Given the description of an element on the screen output the (x, y) to click on. 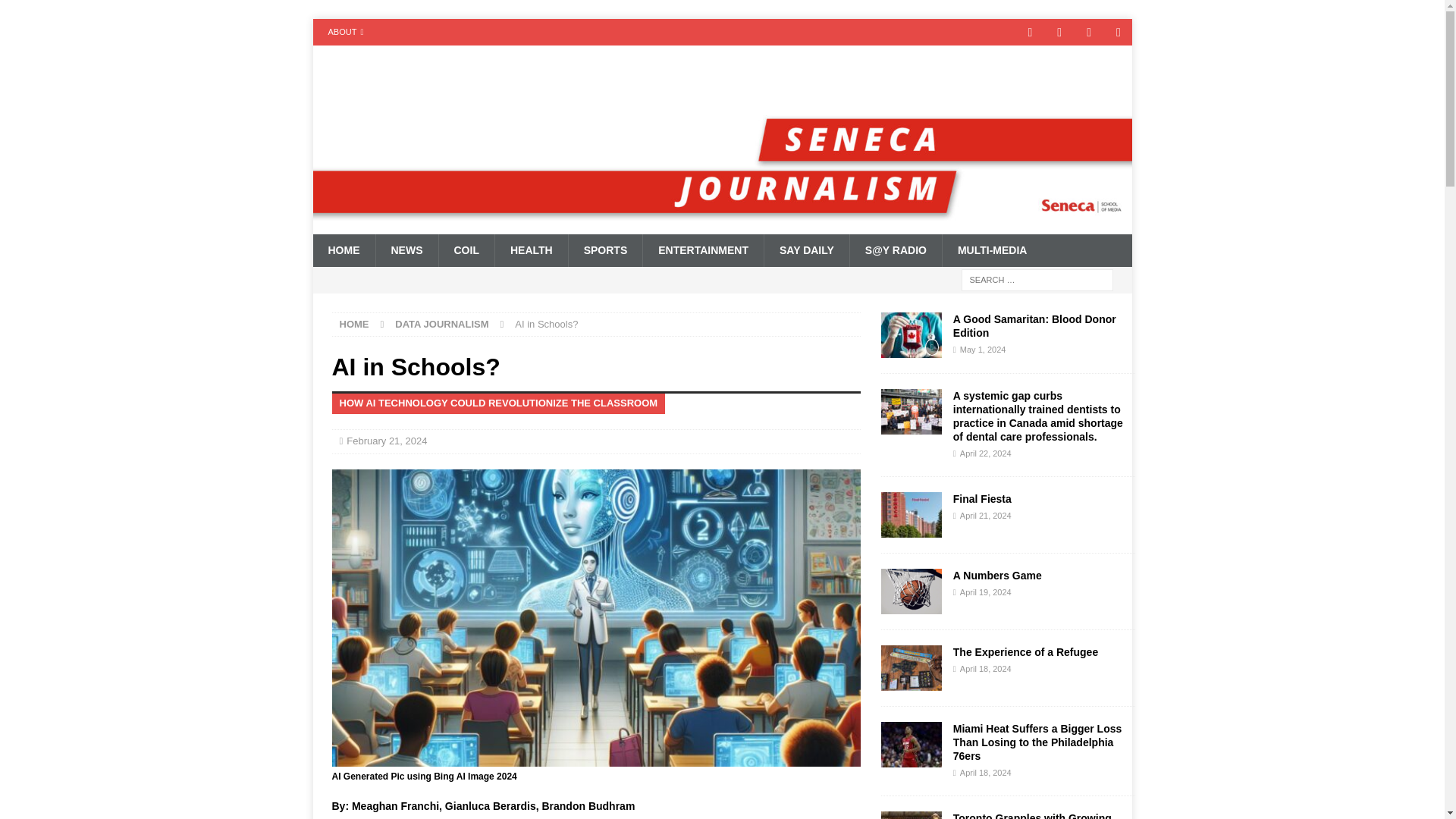
NEWS (406, 250)
HOME (343, 250)
February 21, 2024 (386, 440)
ENTERTAINMENT (702, 250)
SAY DAILY (805, 250)
COIL (466, 250)
A Good Samaritan: Blood Donor Edition (1034, 325)
Search (56, 11)
SPORTS (605, 250)
HOME (354, 324)
HEALTH (531, 250)
Seneca Journalism (722, 225)
ABOUT (345, 31)
DATA JOURNALISM (440, 324)
